Given the description of an element on the screen output the (x, y) to click on. 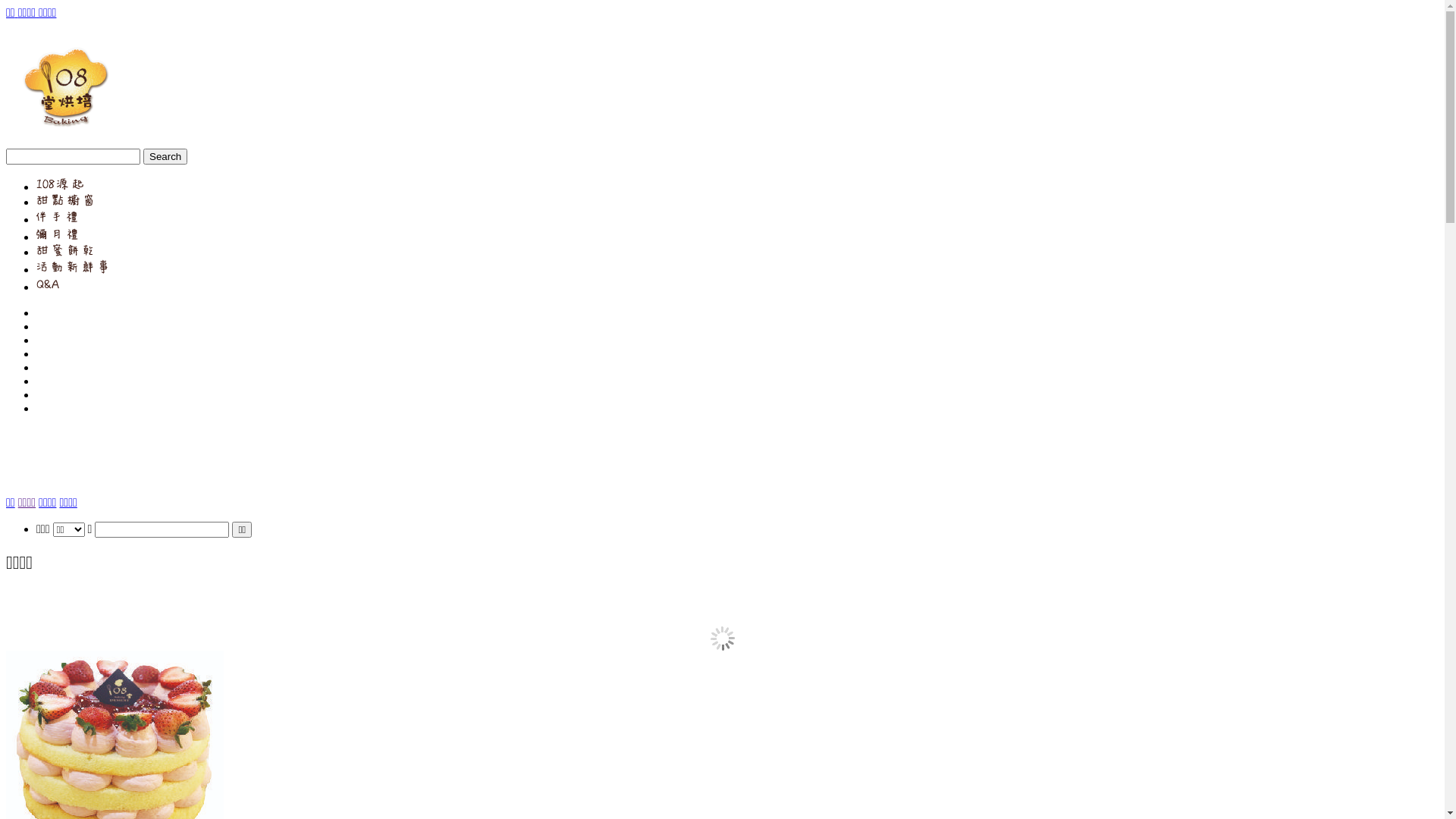
Search Element type: text (165, 156)
